Given the description of an element on the screen output the (x, y) to click on. 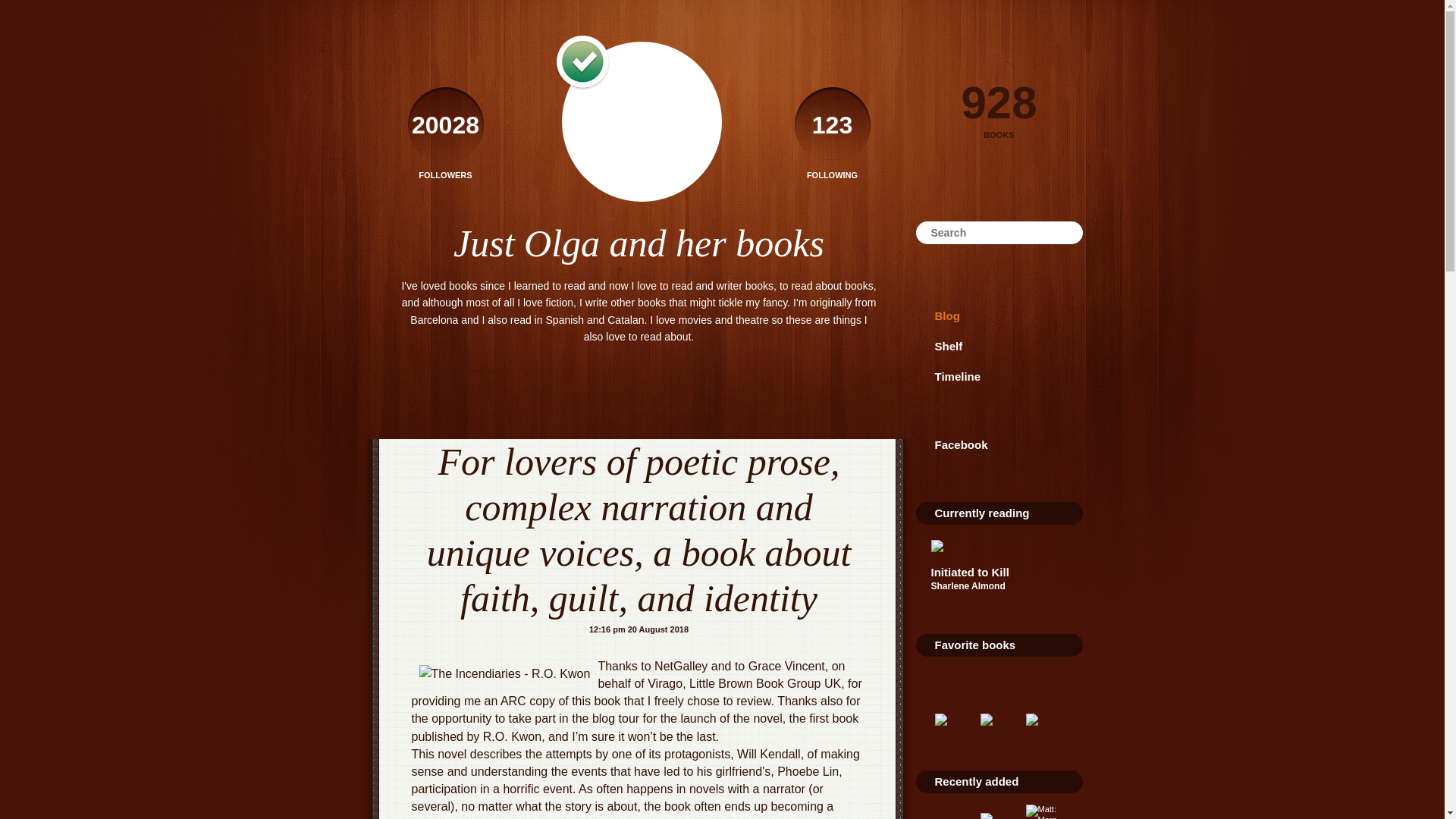
928 (999, 97)
Blog (999, 316)
Recently added (975, 780)
Timeline (999, 376)
Just Olga and her books (638, 242)
Currently reading (981, 512)
BOOKS (999, 135)
Facebook (999, 444)
12:16 pm 20 August 2018 (638, 628)
